Given the description of an element on the screen output the (x, y) to click on. 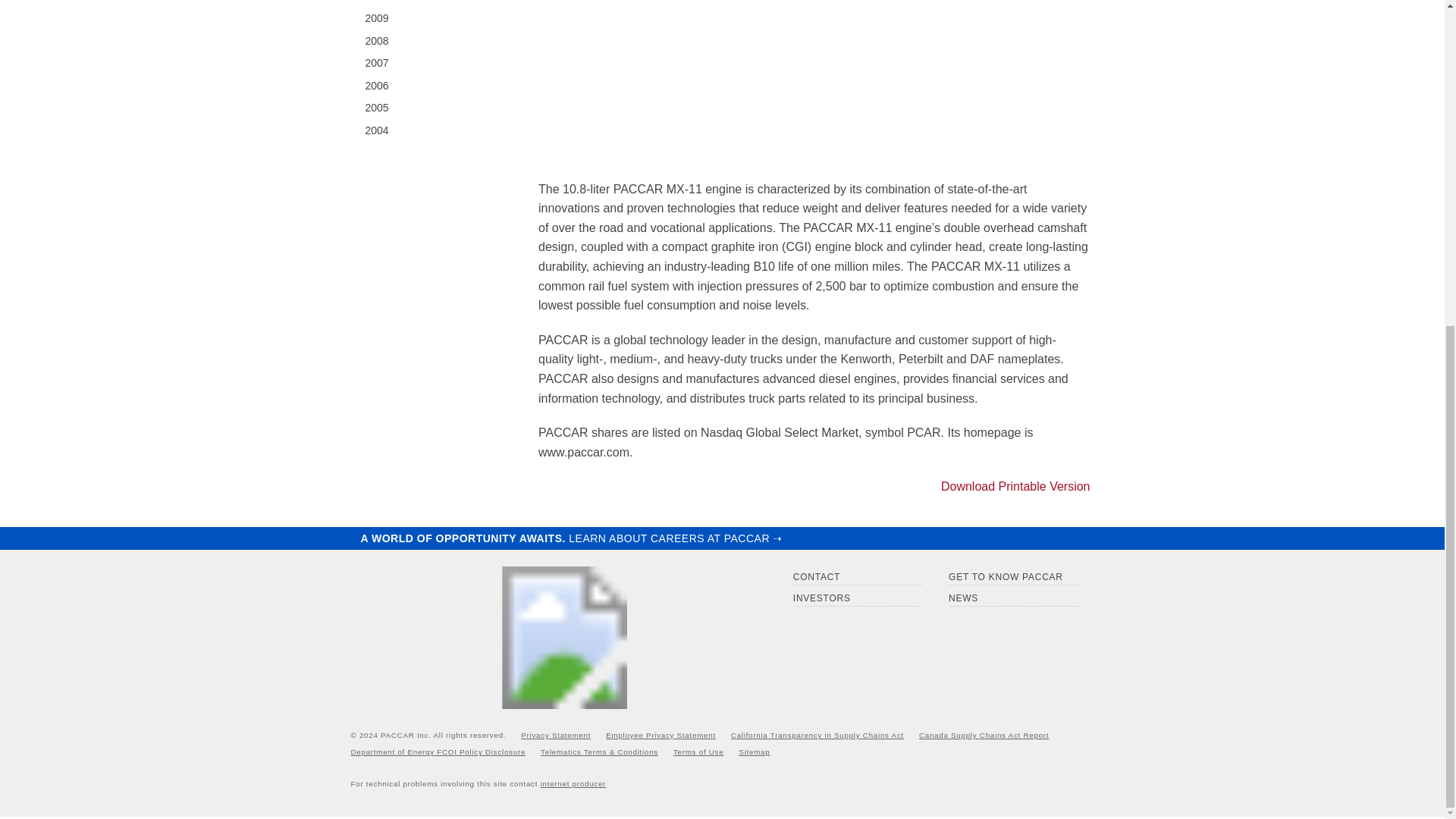
10-5-15-PACCAR-Launches-PACCAR-MX-11-Engine-NA.pdf (1013, 486)
